Given the description of an element on the screen output the (x, y) to click on. 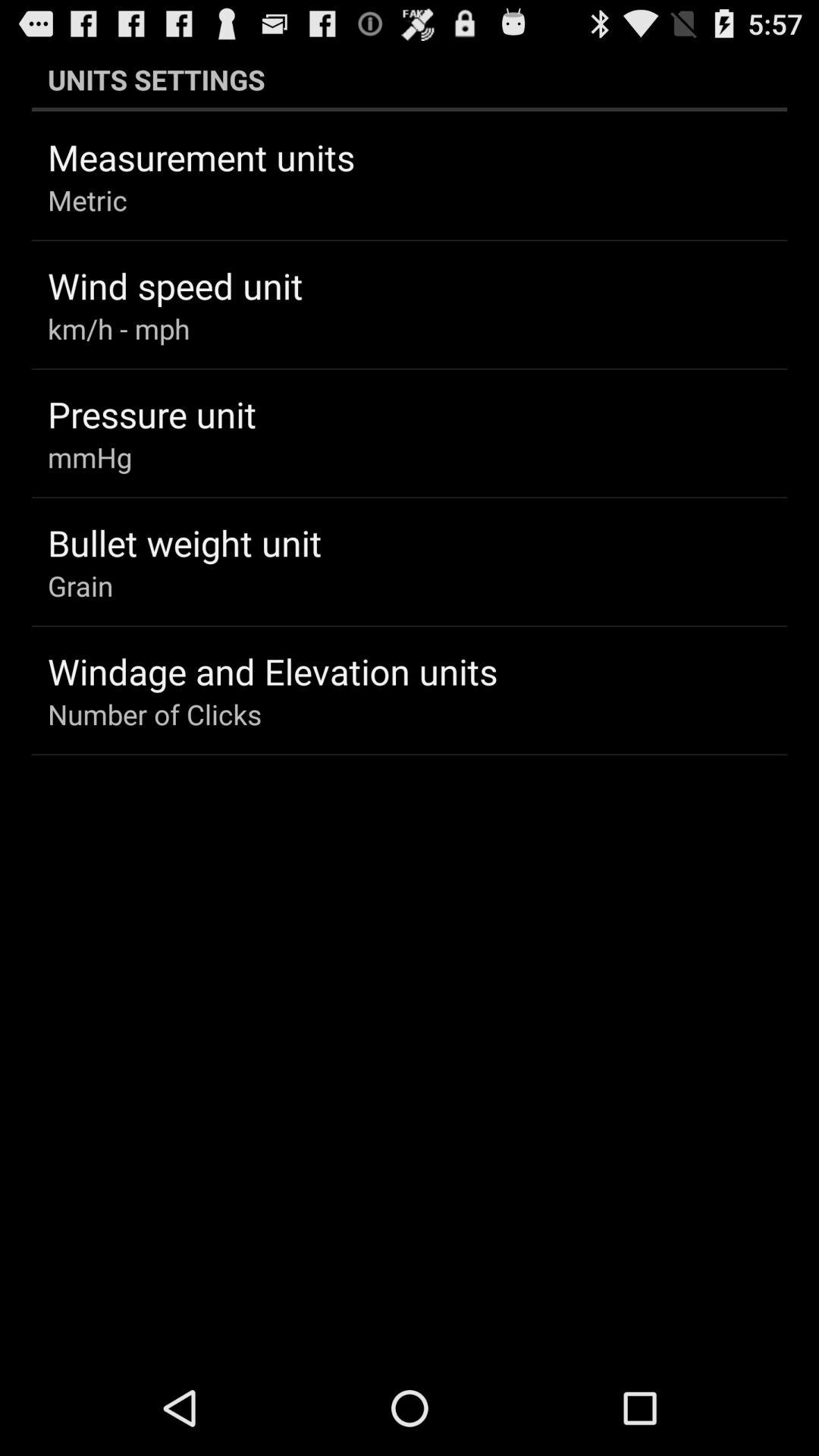
press km/h - mph (118, 328)
